Given the description of an element on the screen output the (x, y) to click on. 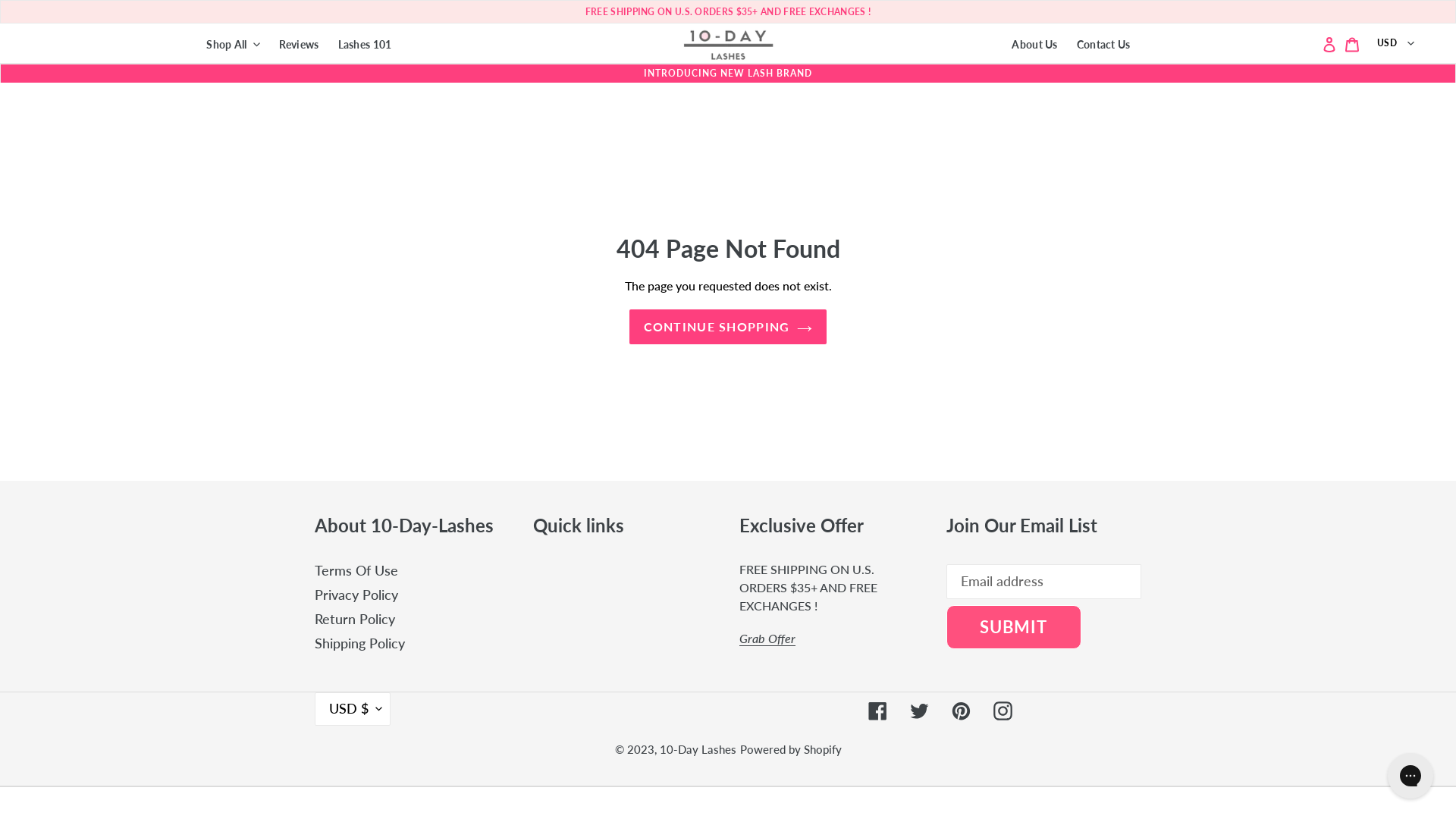
Grab Offer Element type: text (767, 638)
Powered by Shopify Element type: text (790, 749)
SUBMIT Element type: text (1013, 627)
Facebook Element type: text (877, 709)
Gorgias live chat messenger Element type: hover (1410, 775)
Shop All Element type: text (232, 42)
Twitter Element type: text (919, 709)
CONTINUE SHOPPING Element type: text (728, 326)
Terms Of Use Element type: text (356, 569)
Instagram Element type: text (1002, 709)
USD $ Element type: text (352, 708)
About Us Element type: text (1034, 42)
Pinterest Element type: text (960, 709)
Account Element type: text (1328, 43)
Reviews Element type: text (298, 42)
Contact Us Element type: text (1103, 42)
Cart Element type: text (1351, 43)
Privacy Policy Element type: text (356, 594)
10-Day Lashes Element type: text (697, 749)
Shipping Policy Element type: text (359, 642)
Return Policy Element type: text (354, 618)
Lashes 101 Element type: text (364, 42)
